Given the description of an element on the screen output the (x, y) to click on. 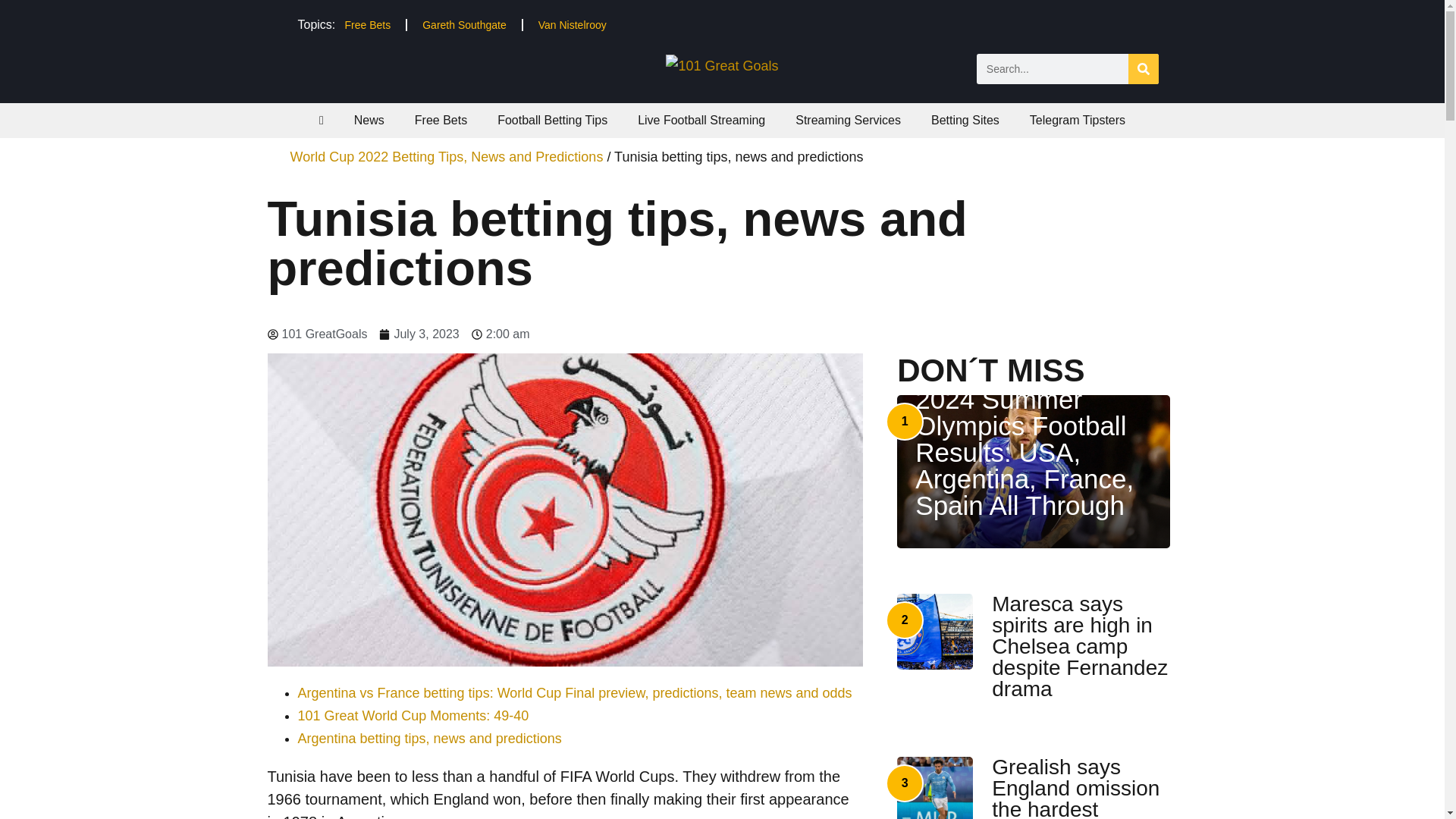
Free Bets (439, 120)
Free Bets (367, 24)
News (368, 120)
Betting Sites (964, 120)
101 Great Goals (721, 65)
Van Nistelrooy (571, 24)
Streaming Services (847, 120)
Gareth Southgate (464, 24)
Football Betting Tips (552, 120)
Live Football Streaming (701, 120)
